Given the description of an element on the screen output the (x, y) to click on. 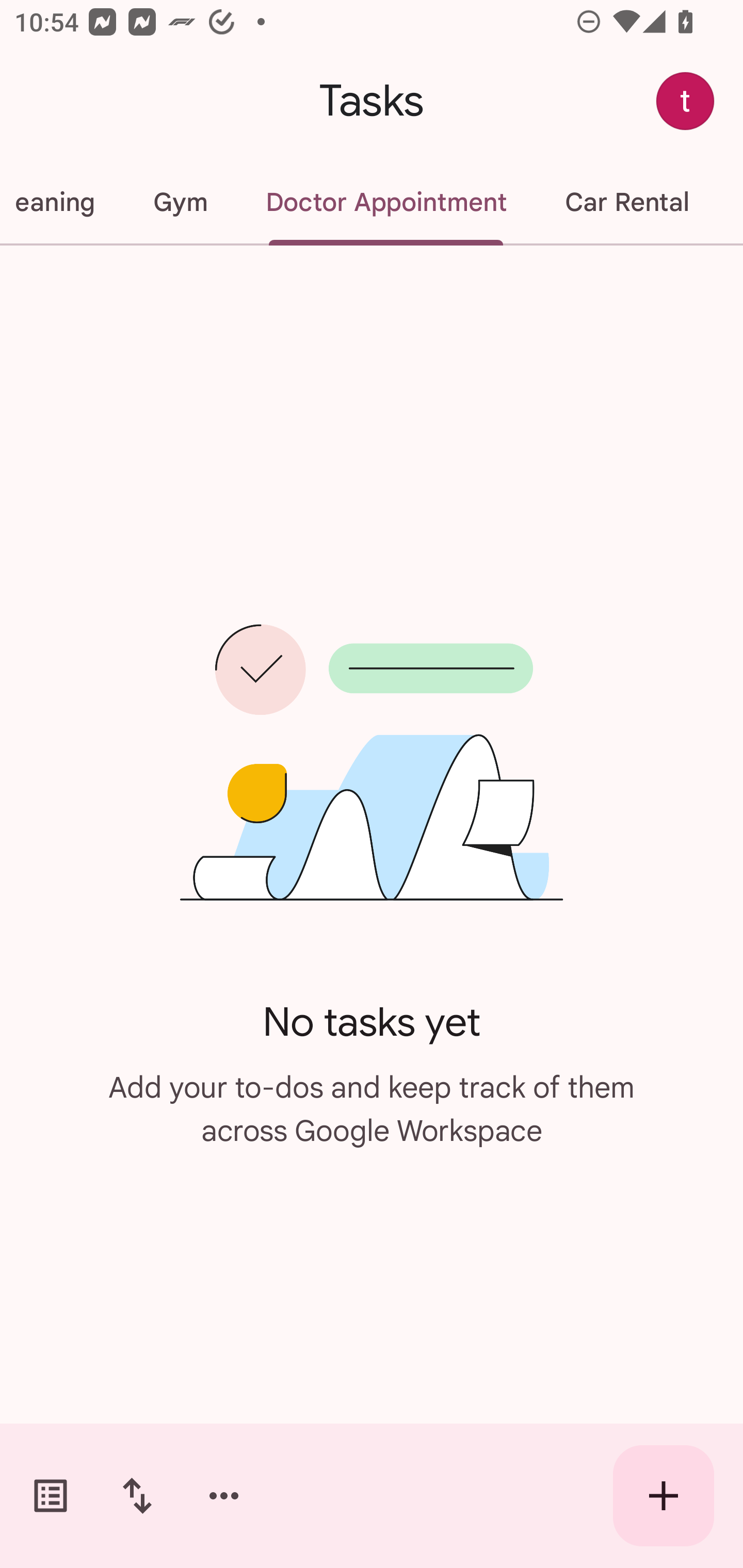
Cleaning (62, 202)
Gym (180, 202)
Car Rental (626, 202)
Switch task lists (50, 1495)
Create new task (663, 1495)
Change sort order (136, 1495)
More options (223, 1495)
